Given the description of an element on the screen output the (x, y) to click on. 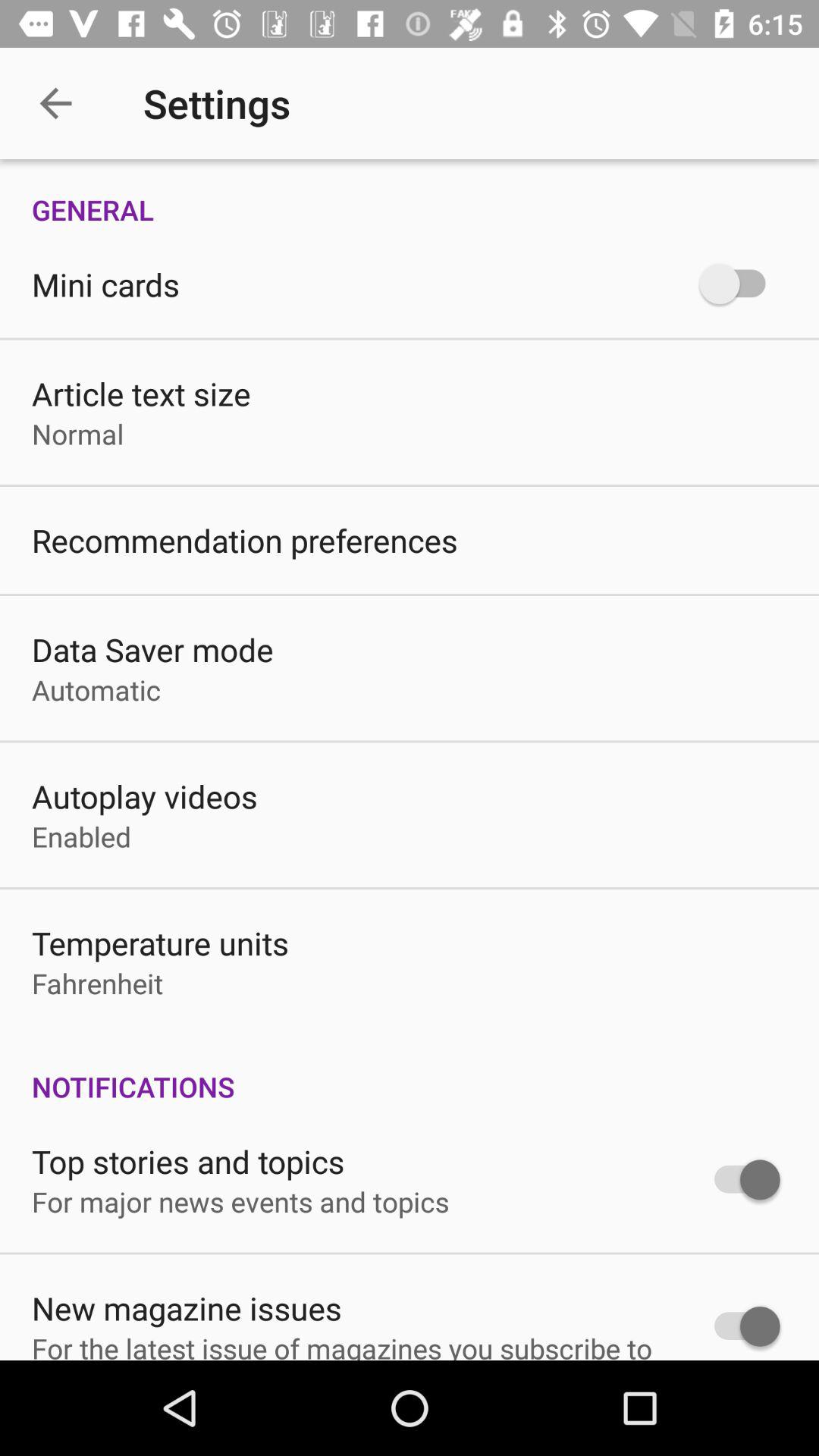
turn on the icon above the normal (140, 393)
